Given the description of an element on the screen output the (x, y) to click on. 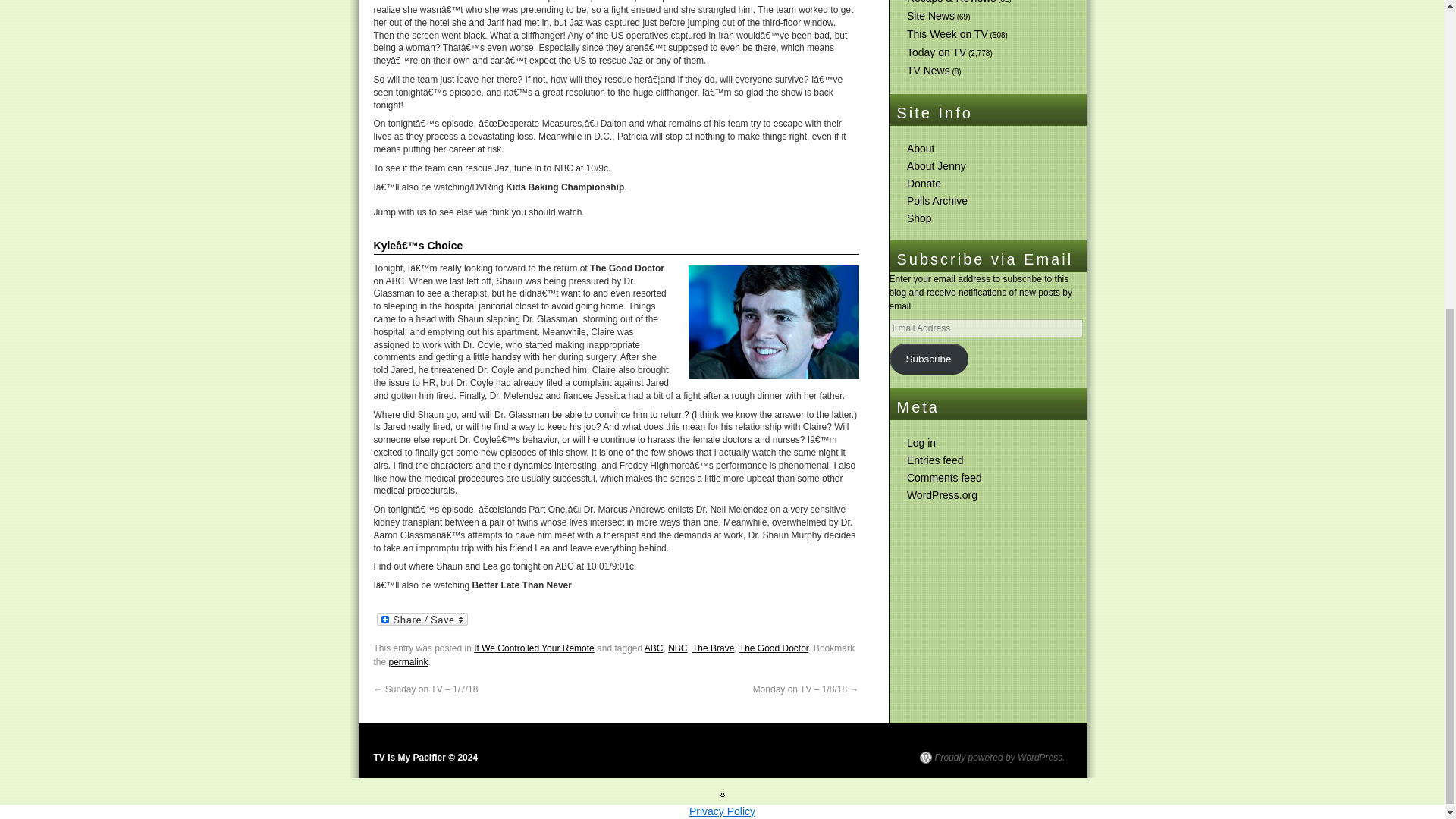
permalink (408, 661)
Donate (923, 183)
This Week on TV (947, 33)
The Good Doctor (773, 647)
Semantic Personal Publishing Platform (991, 757)
TV Is My Pacifier (424, 757)
NBC (677, 647)
TV News (928, 70)
Site News (931, 15)
ABC (654, 647)
The Brave (713, 647)
About Jenny (936, 165)
Today on TV (936, 51)
About (920, 148)
If We Controlled Your Remote (534, 647)
